Given the description of an element on the screen output the (x, y) to click on. 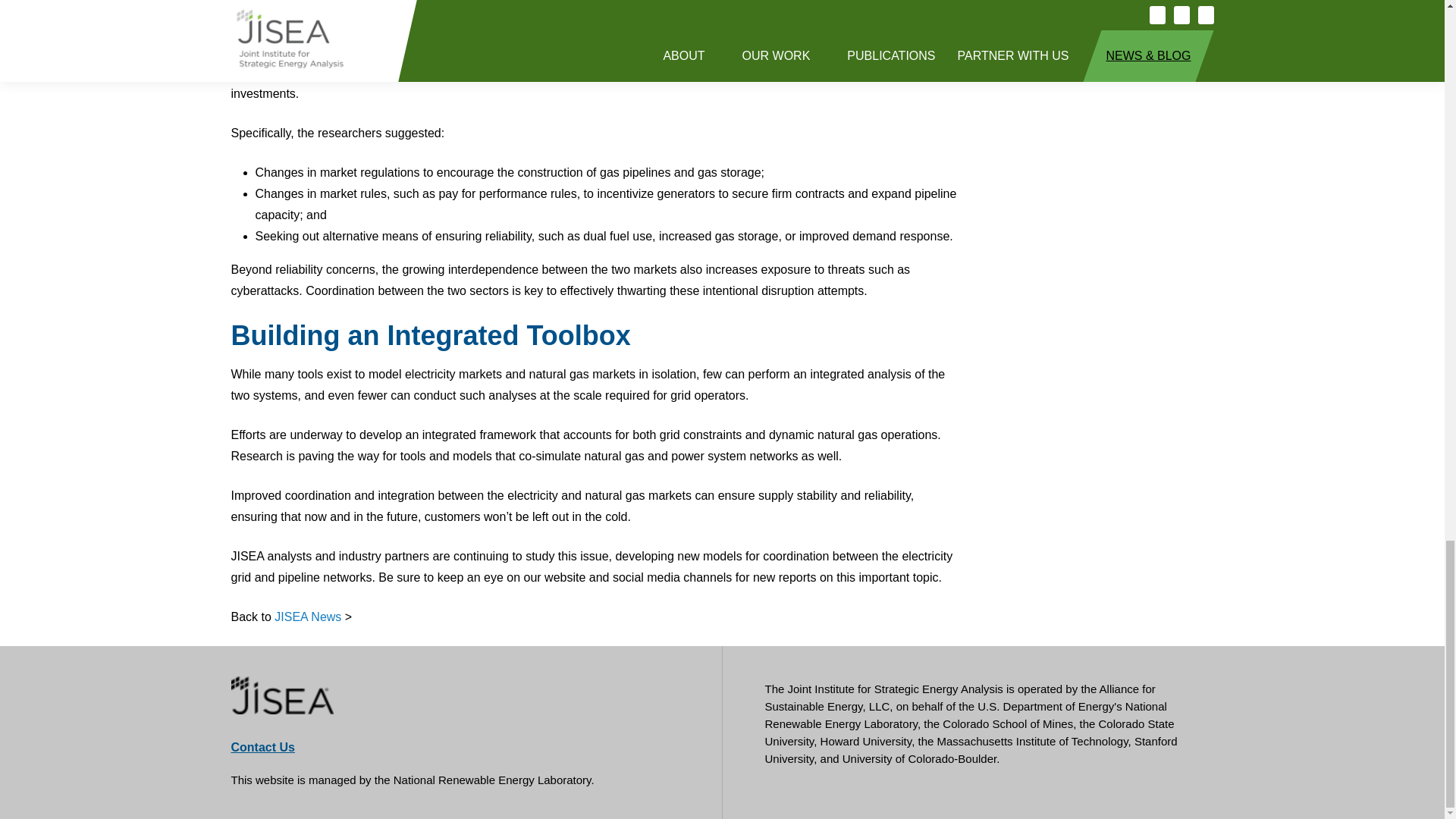
JISEA News (307, 616)
Contact Us (262, 747)
